Given the description of an element on the screen output the (x, y) to click on. 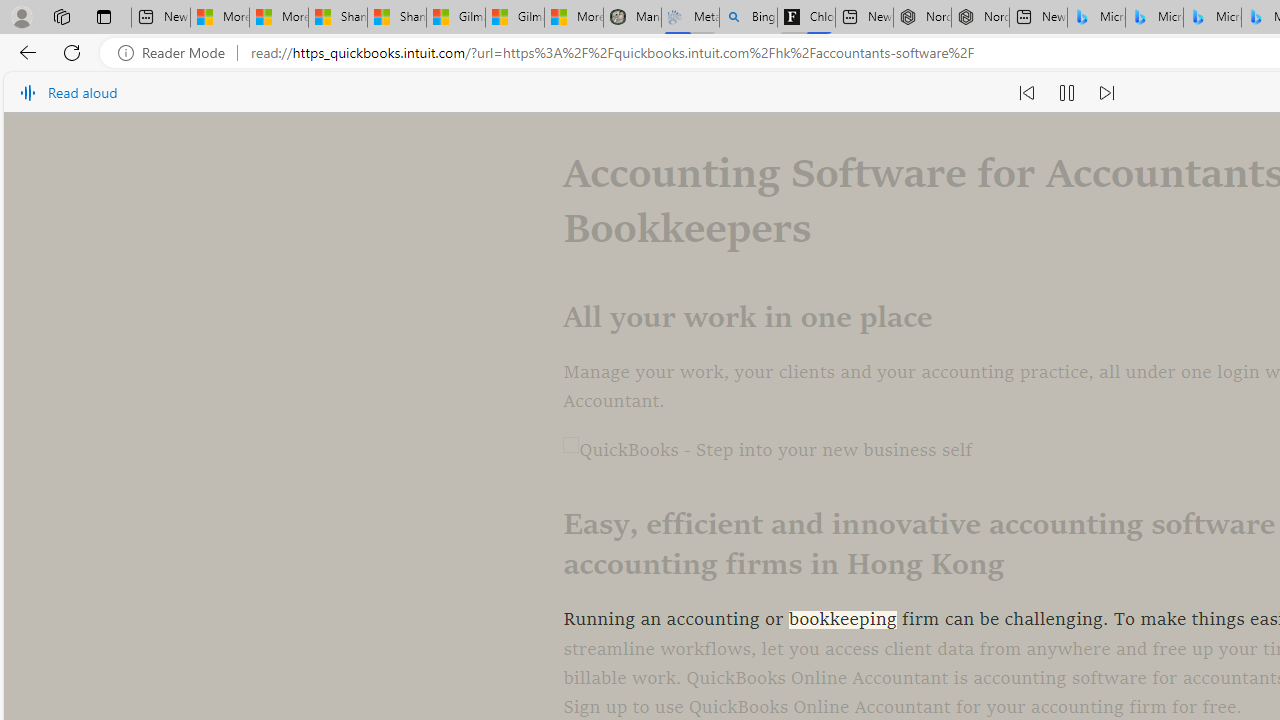
Read previous paragraph (1026, 92)
Gilma and Hector both pose tropical trouble for Hawaii (514, 17)
